Given the description of an element on the screen output the (x, y) to click on. 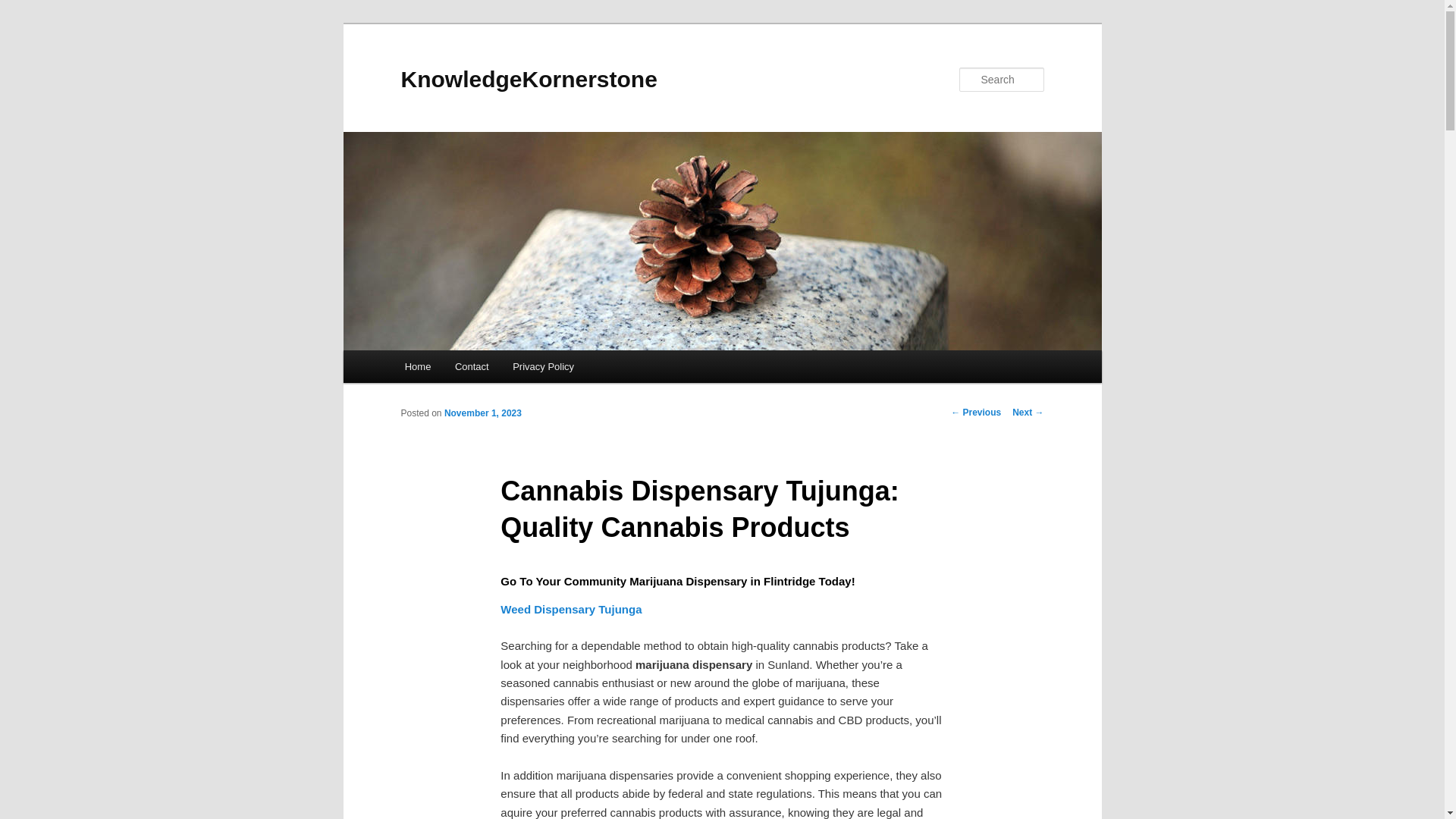
KnowledgeKornerstone (528, 78)
6:09 am (482, 412)
November 1, 2023 (482, 412)
Weed Dispensary Tujunga (571, 608)
Search (24, 8)
Contact (471, 366)
Privacy Policy (542, 366)
Home (417, 366)
